Given the description of an element on the screen output the (x, y) to click on. 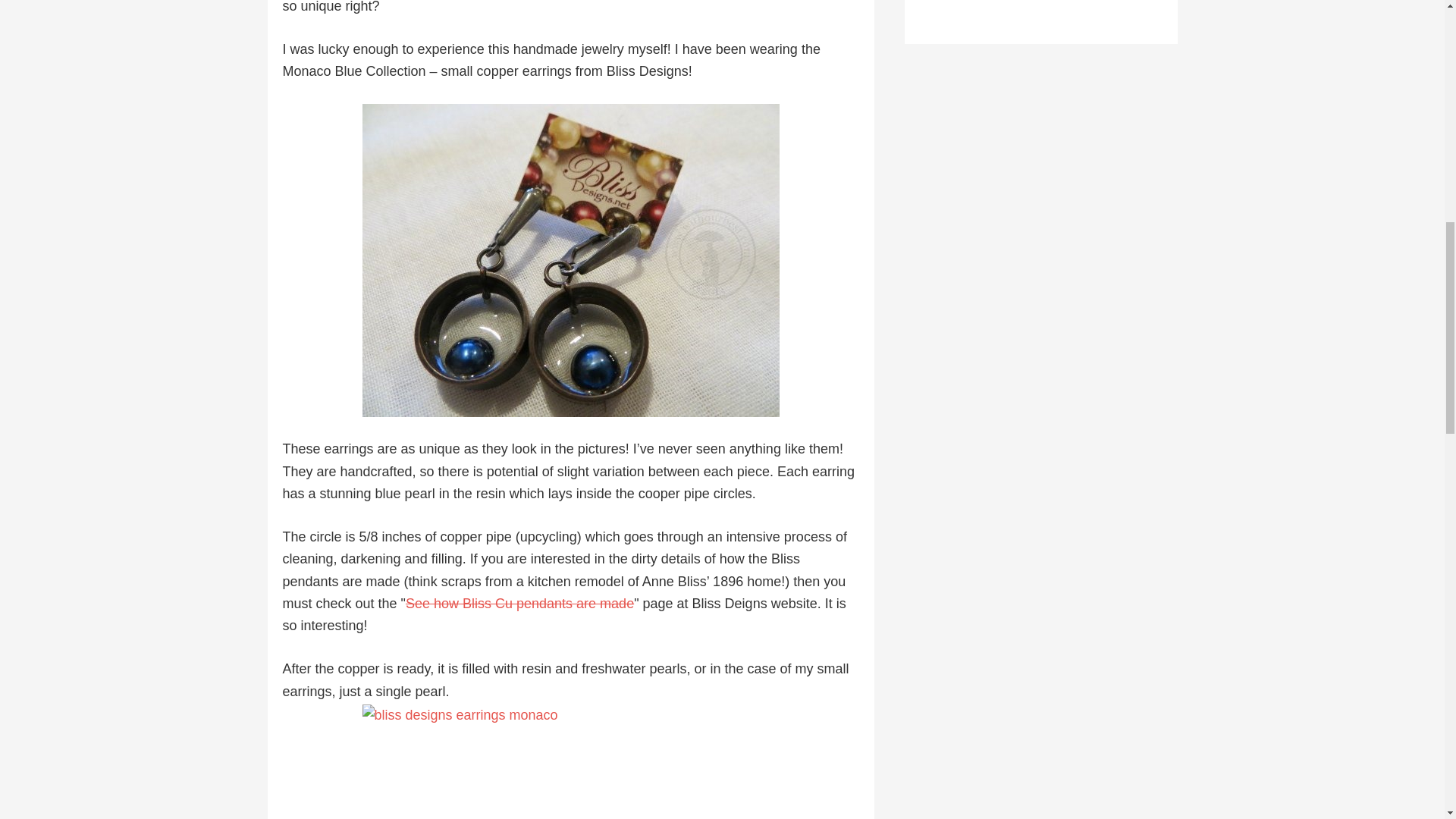
bliss designs earrings monaco (570, 761)
bliss designs net etsy (570, 260)
See how Bliss Cu pendants are made (519, 603)
